Given the description of an element on the screen output the (x, y) to click on. 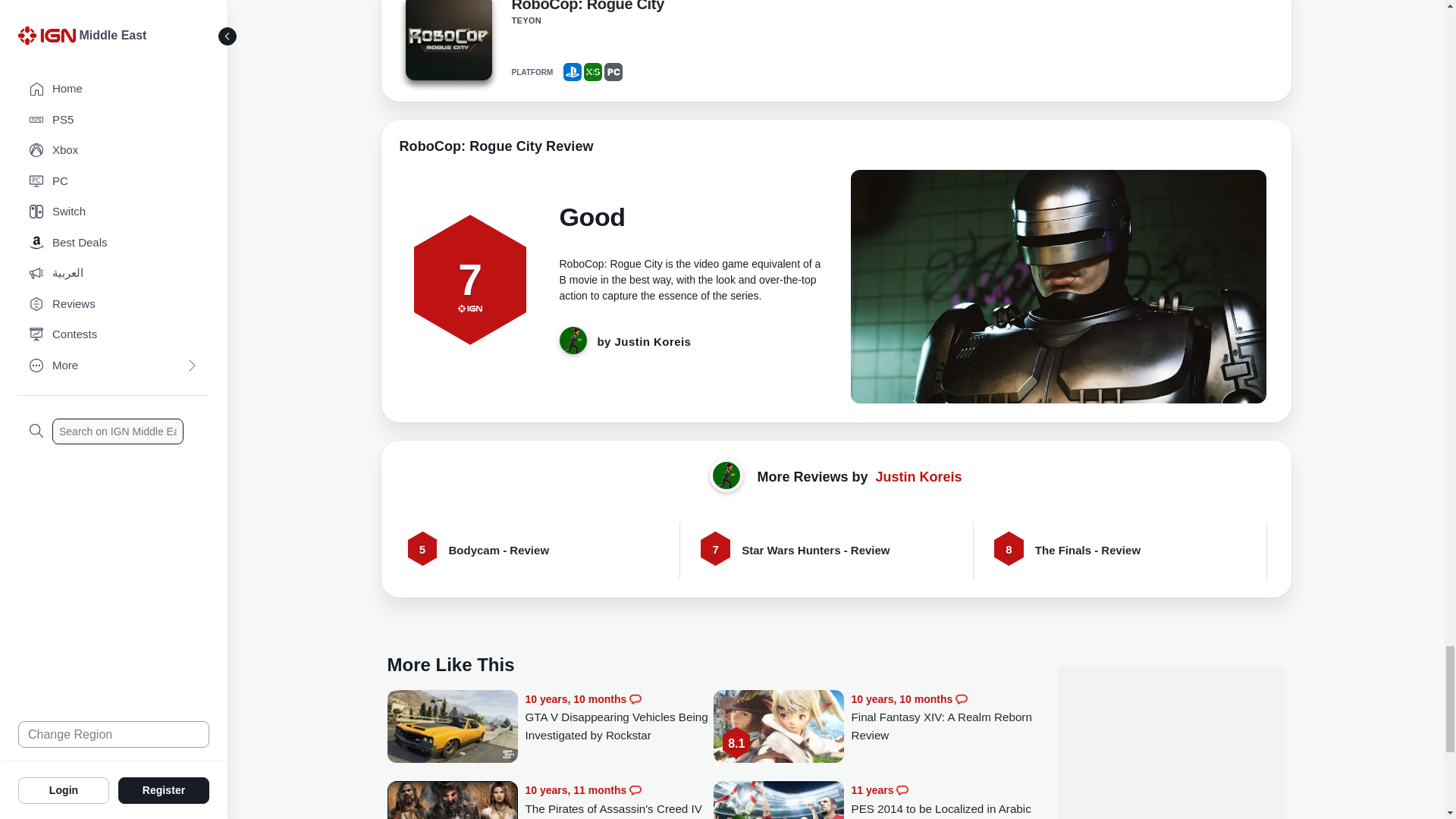
PC (613, 72)
The Pirates of Assassin's Creed IV (451, 800)
The Pirates of Assassin's Creed IV (618, 799)
PS5 (571, 72)
GTA V Disappearing Vehicles Being Investigated by Rockstar (618, 717)
PES 2014 to be Localized in Arabic (778, 800)
RoboCop: Rogue City (448, 40)
Final Fantasy XIV: A Realm Reborn Review (944, 717)
RoboCop: Rogue City (587, 9)
Final Fantasy XIV: A Realm Reborn Review (778, 728)
XBOXSERIES (592, 72)
GTA V Disappearing Vehicles Being Investigated by Rockstar (451, 728)
PES 2014 to be Localized in Arabic (944, 799)
RoboCop: Rogue City (448, 42)
